Given the description of an element on the screen output the (x, y) to click on. 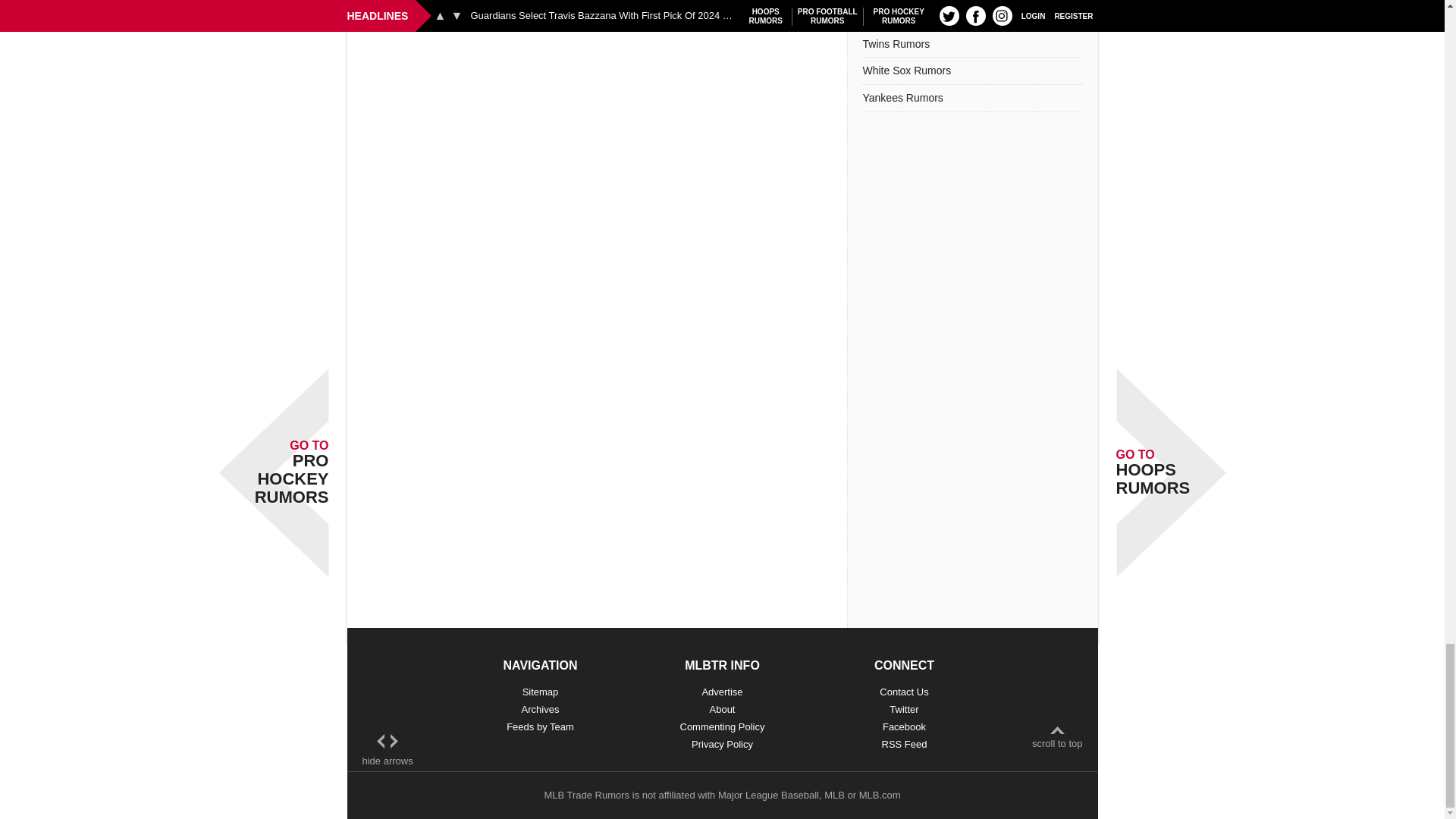
MLB Trade Rumors (585, 794)
